Given the description of an element on the screen output the (x, y) to click on. 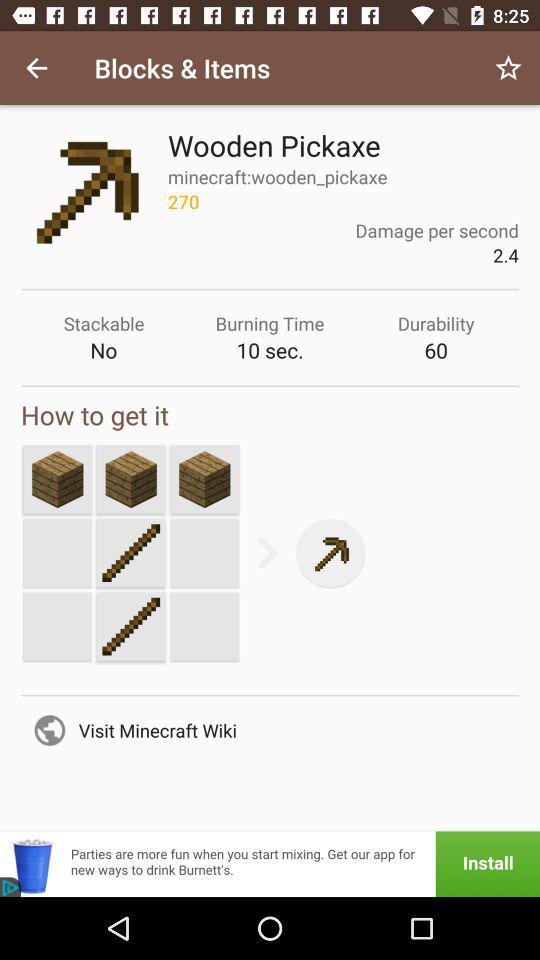
click the item above the damage per second item (508, 67)
